Given the description of an element on the screen output the (x, y) to click on. 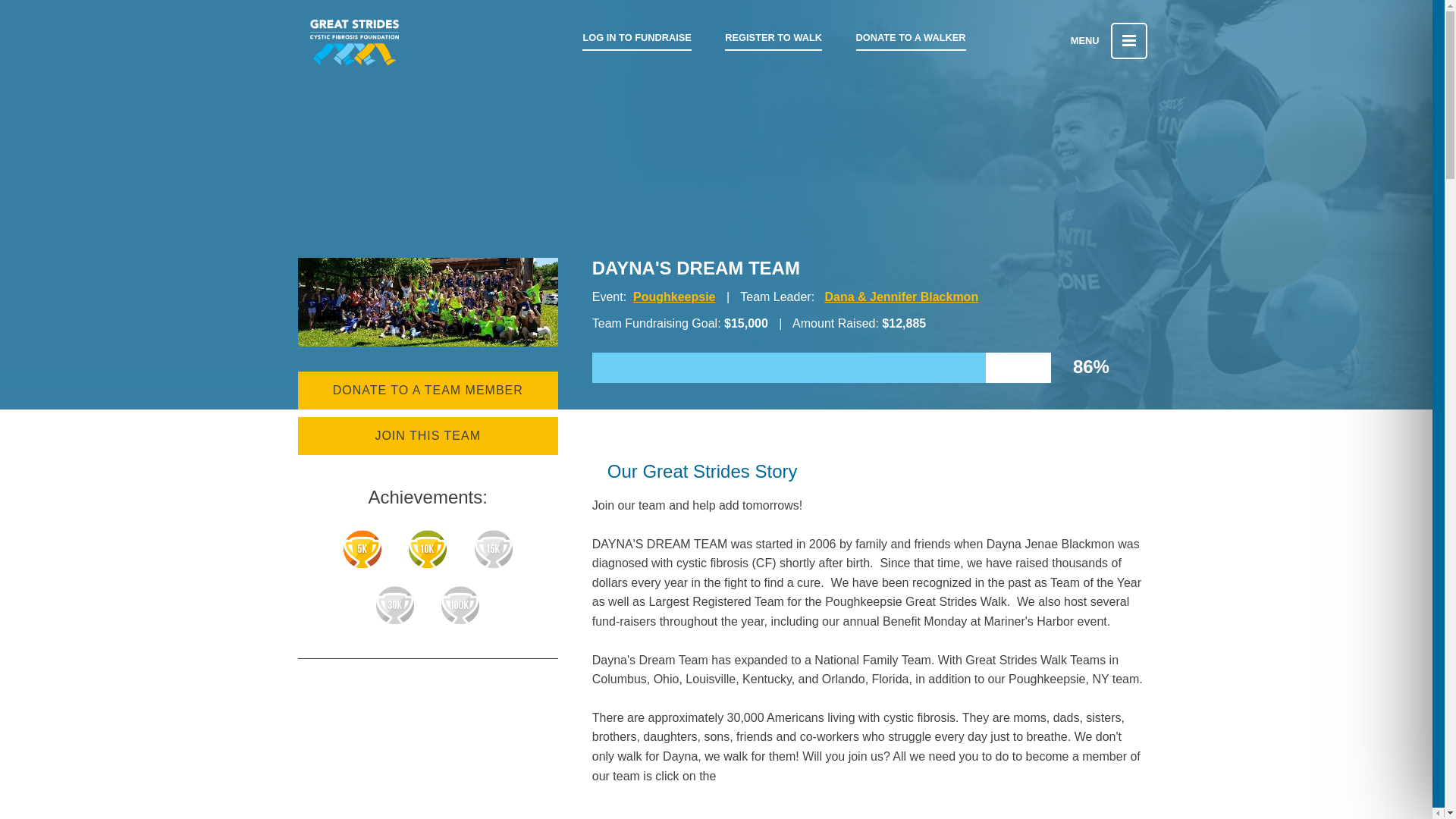
REGISTER TO WALK (773, 37)
JOIN THIS TEAM (427, 435)
LOG IN TO FUNDRAISE (636, 37)
DONATE TO A WALKER (911, 37)
Poughkeepsie (673, 296)
DONATE TO A TEAM MEMBER (427, 390)
